Given the description of an element on the screen output the (x, y) to click on. 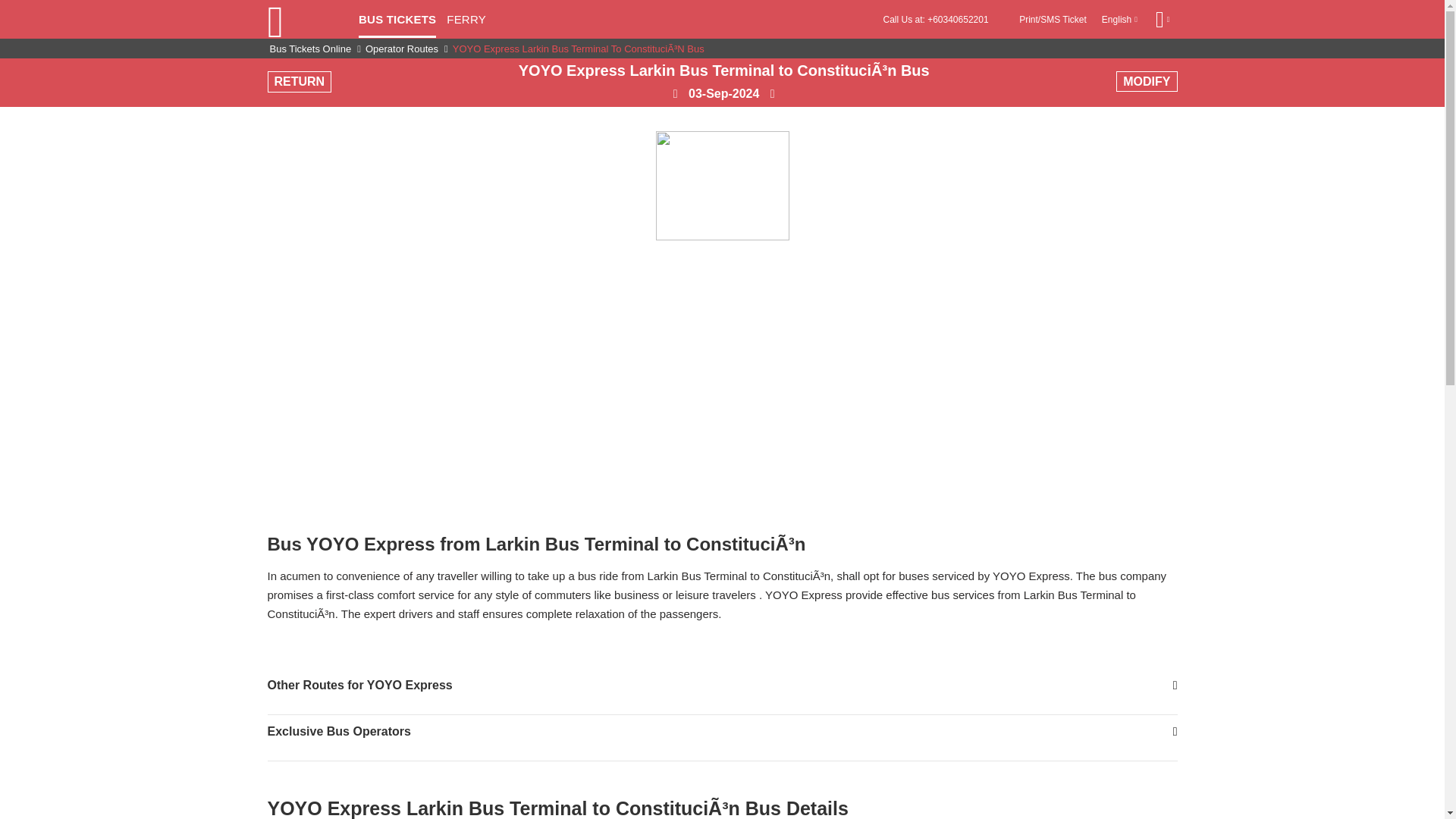
Bus Tickets Online (310, 48)
BUS TICKETS (396, 24)
Operator Routes (402, 48)
FERRY (466, 23)
